Given the description of an element on the screen output the (x, y) to click on. 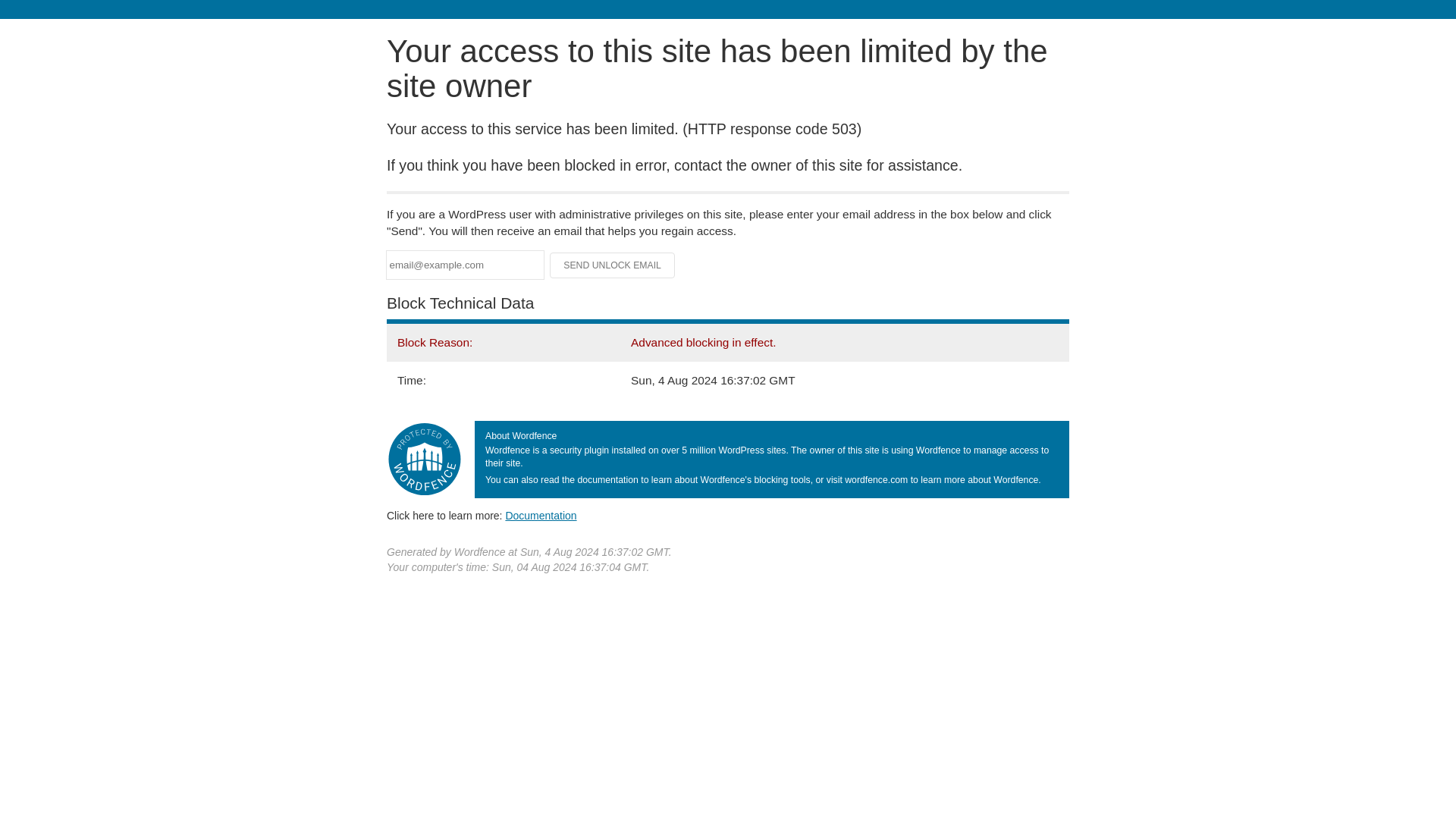
Send Unlock Email (612, 265)
Documentation (540, 515)
Send Unlock Email (612, 265)
